Given the description of an element on the screen output the (x, y) to click on. 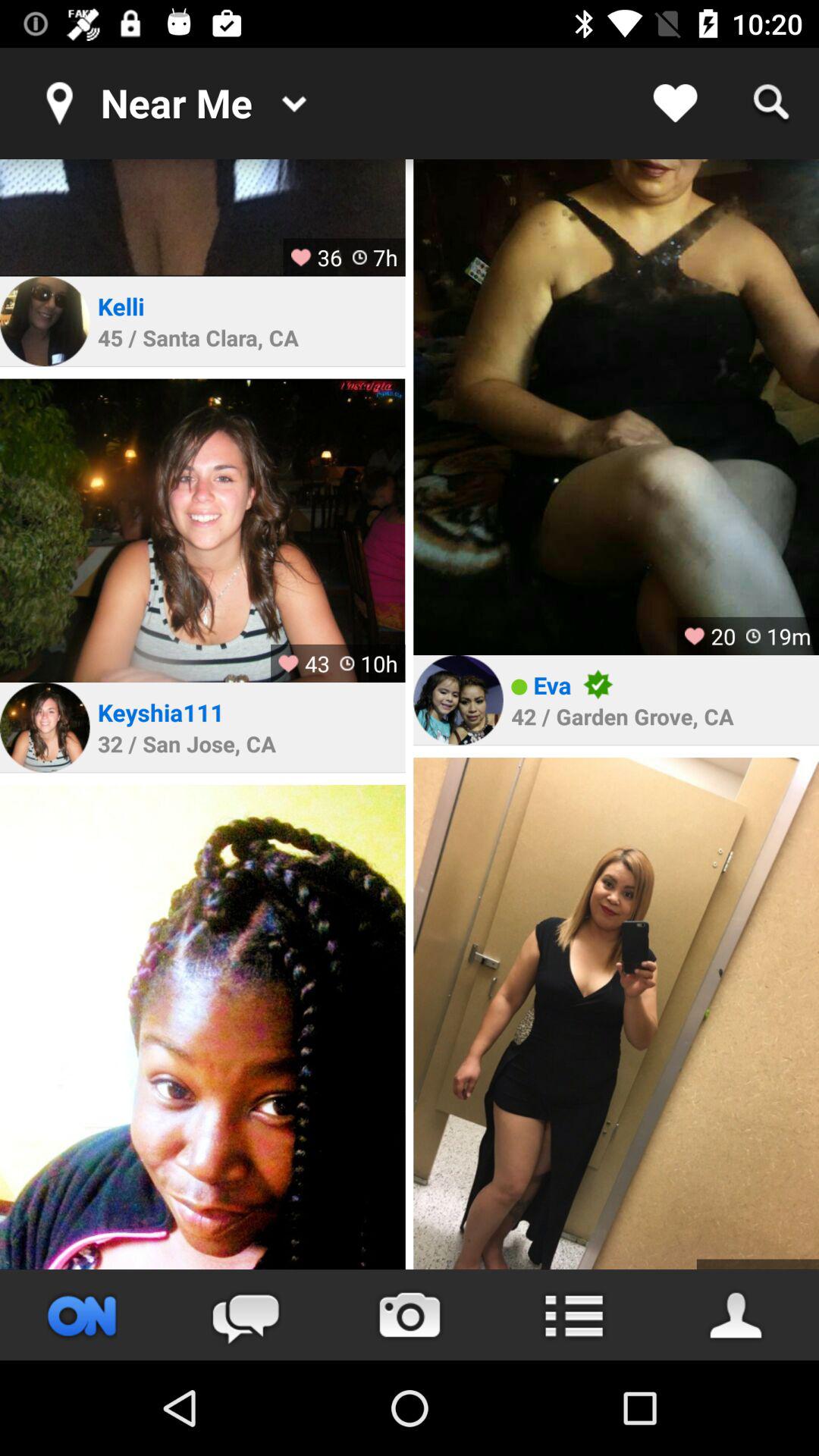
launch the item above 32 san jose icon (160, 712)
